Given the description of an element on the screen output the (x, y) to click on. 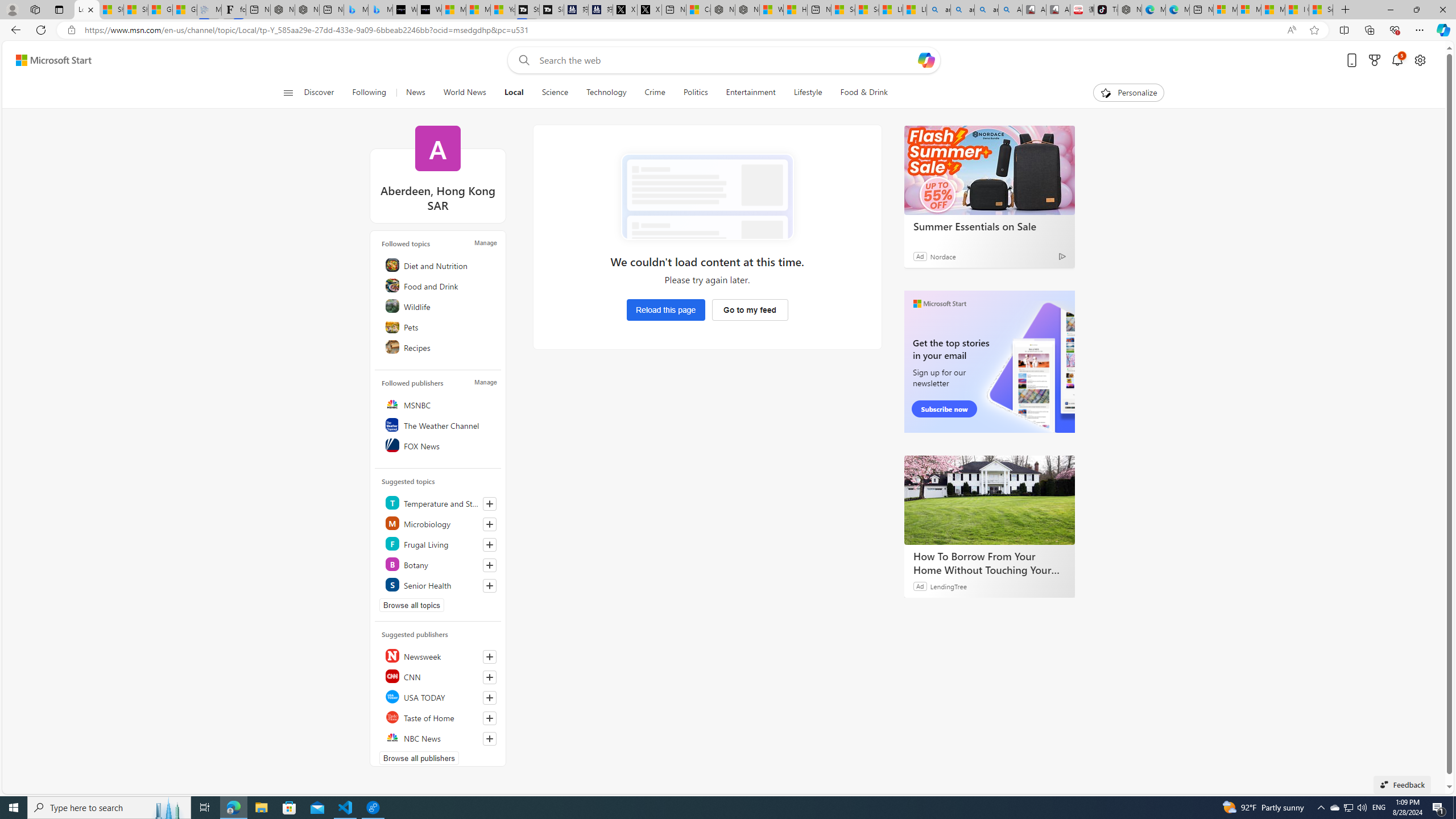
Personalize (1128, 92)
Error (706, 196)
Nordace - Best Sellers (1129, 9)
Crime (655, 92)
amazon - Search Images (986, 9)
I Gained 20 Pounds of Muscle in 30 Days! | Watch (1296, 9)
Newsweek (439, 656)
Subscribe now (943, 408)
How To Borrow From Your Home Without Touching Your Mortgage (988, 562)
